Given the description of an element on the screen output the (x, y) to click on. 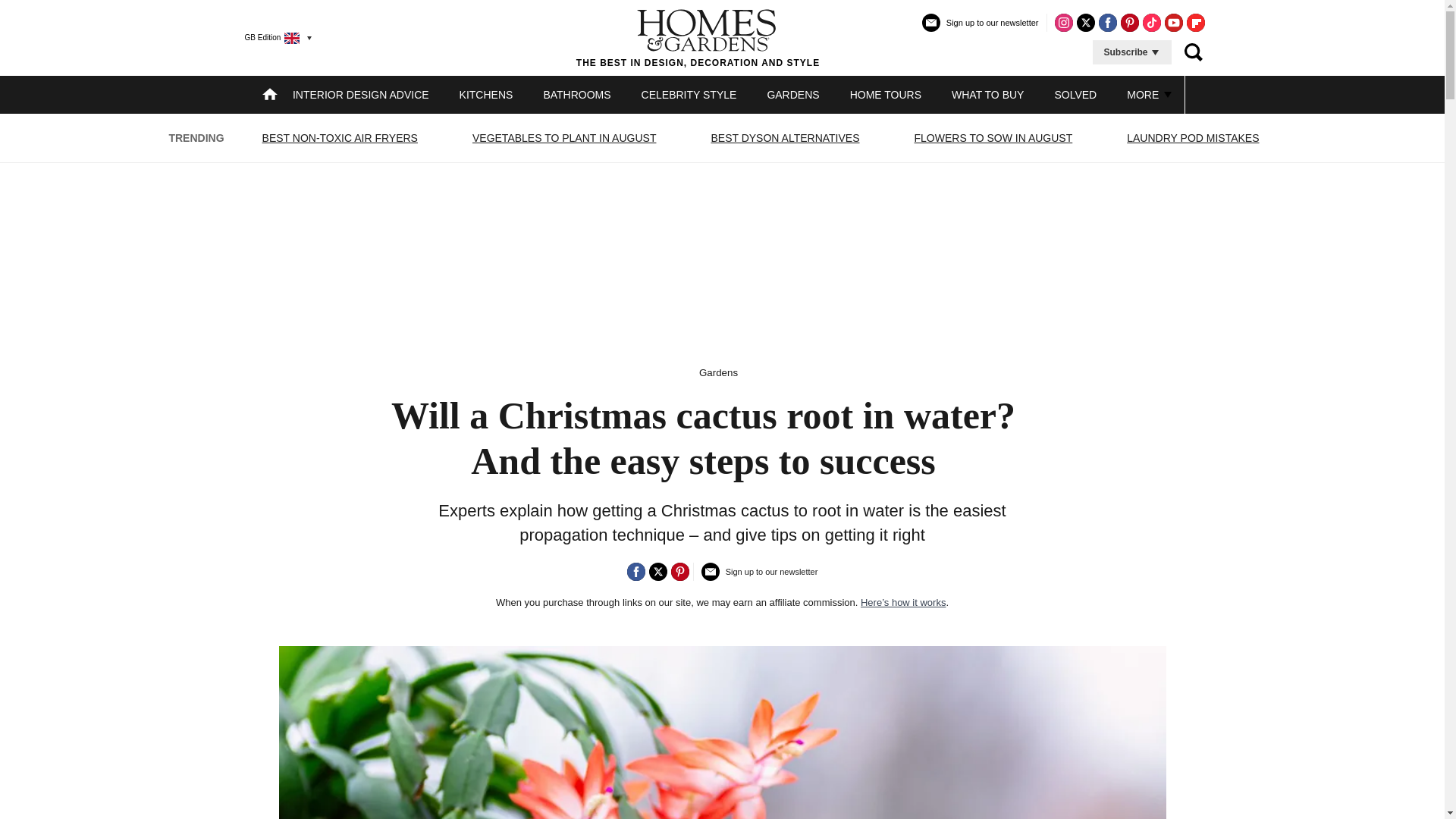
FLOWERS TO SOW IN AUGUST (993, 137)
WHAT TO BUY (987, 94)
INTERIOR DESIGN ADVICE (360, 94)
HOME TOURS (885, 94)
GB Edition (271, 37)
KITCHENS (486, 94)
BATHROOMS (576, 94)
Gardens (718, 372)
BEST NON-TOXIC AIR FRYERS (340, 137)
Sign up to our newsletter (980, 28)
